Given the description of an element on the screen output the (x, y) to click on. 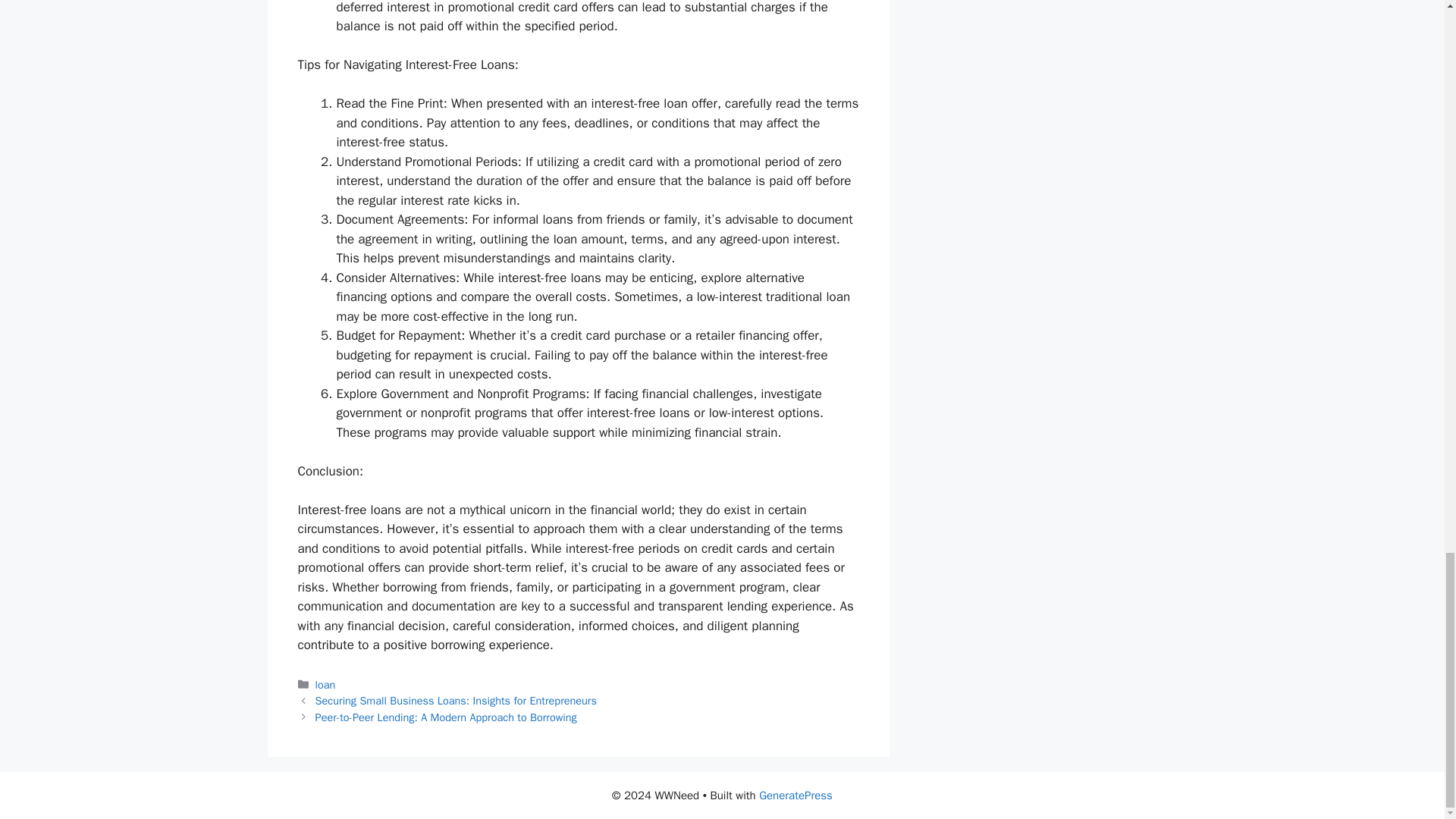
Securing Small Business Loans: Insights for Entrepreneurs (455, 700)
GeneratePress (795, 795)
Peer-to-Peer Lending: A Modern Approach to Borrowing (445, 716)
loan (325, 684)
